Given the description of an element on the screen output the (x, y) to click on. 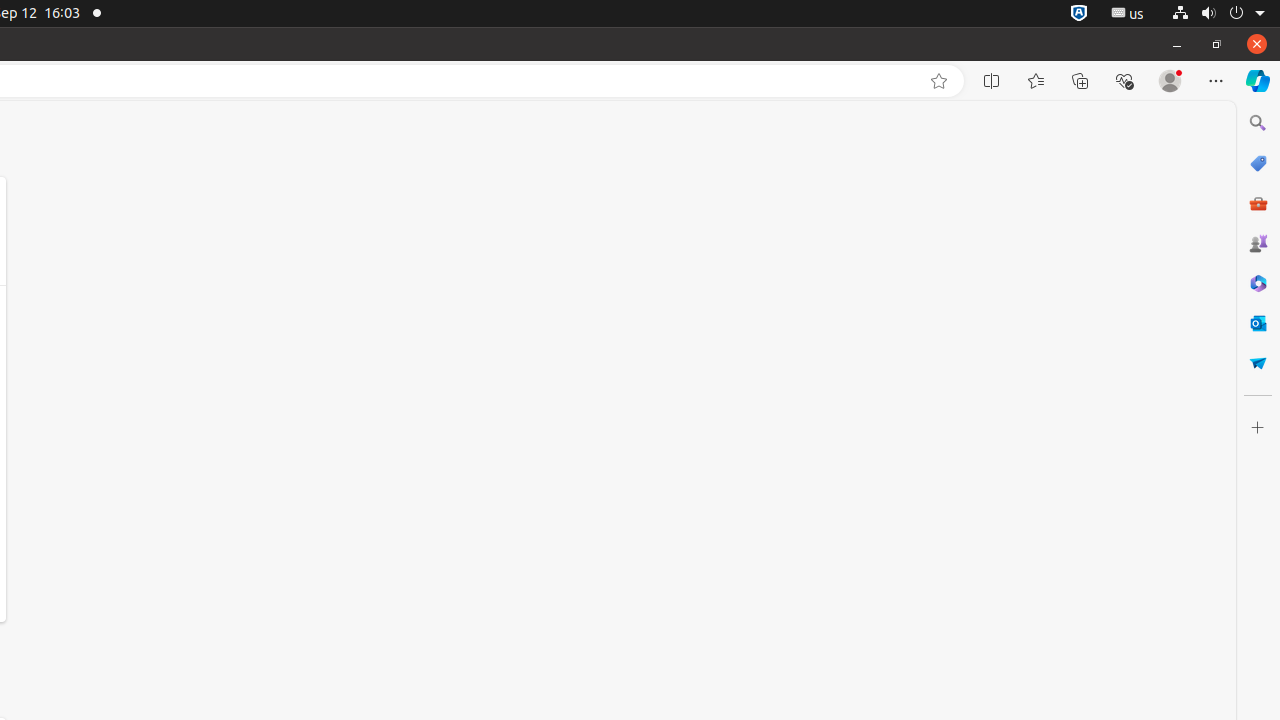
Collections Element type: push-button (1080, 81)
:1.72/StatusNotifierItem Element type: menu (1079, 13)
Microsoft 365 Element type: push-button (1258, 283)
Tools Element type: push-button (1258, 202)
Profile 1 Profile, Please sign in Element type: push-button (1170, 81)
